Given the description of an element on the screen output the (x, y) to click on. 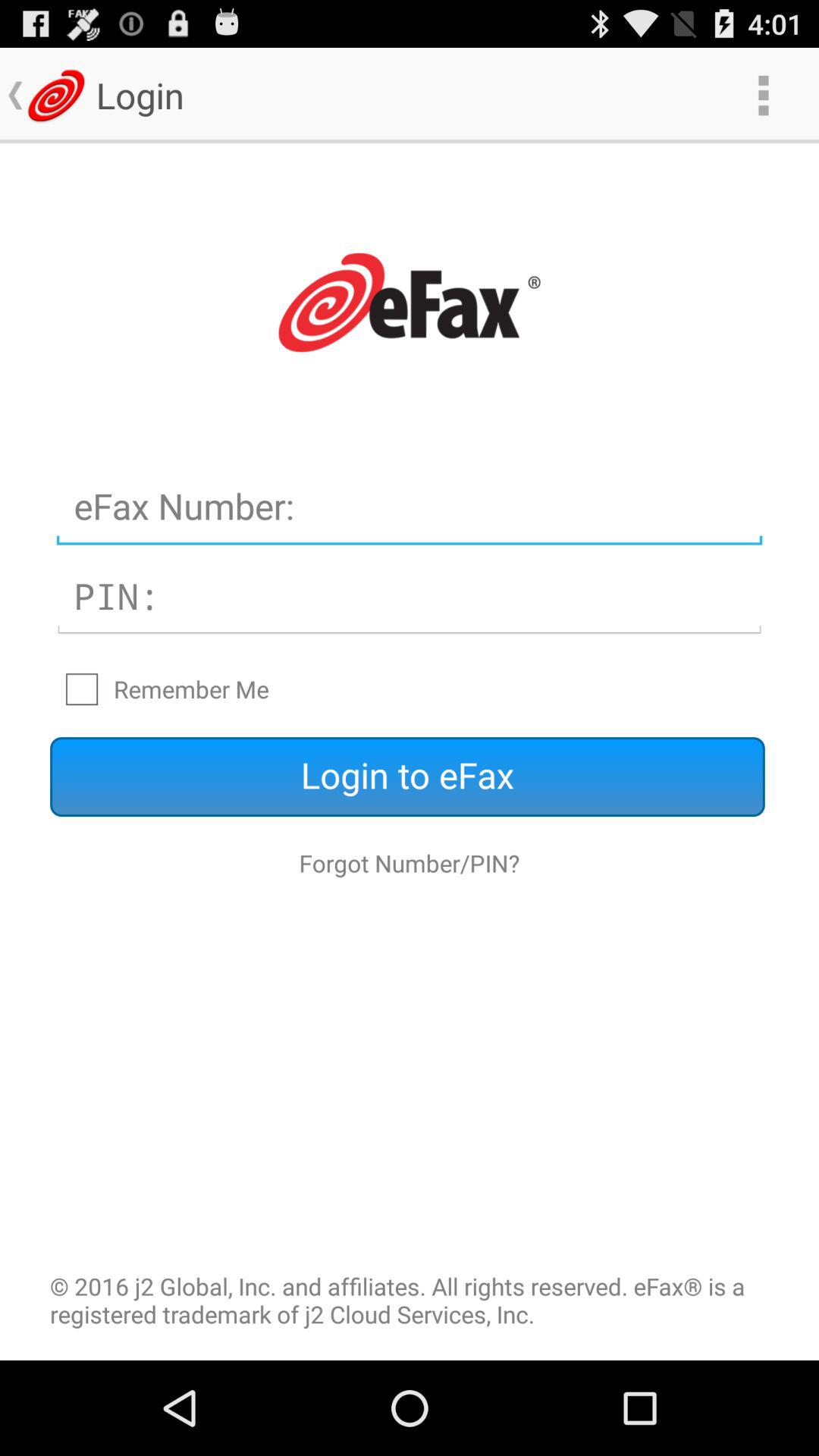
select item at the top right corner (763, 95)
